Given the description of an element on the screen output the (x, y) to click on. 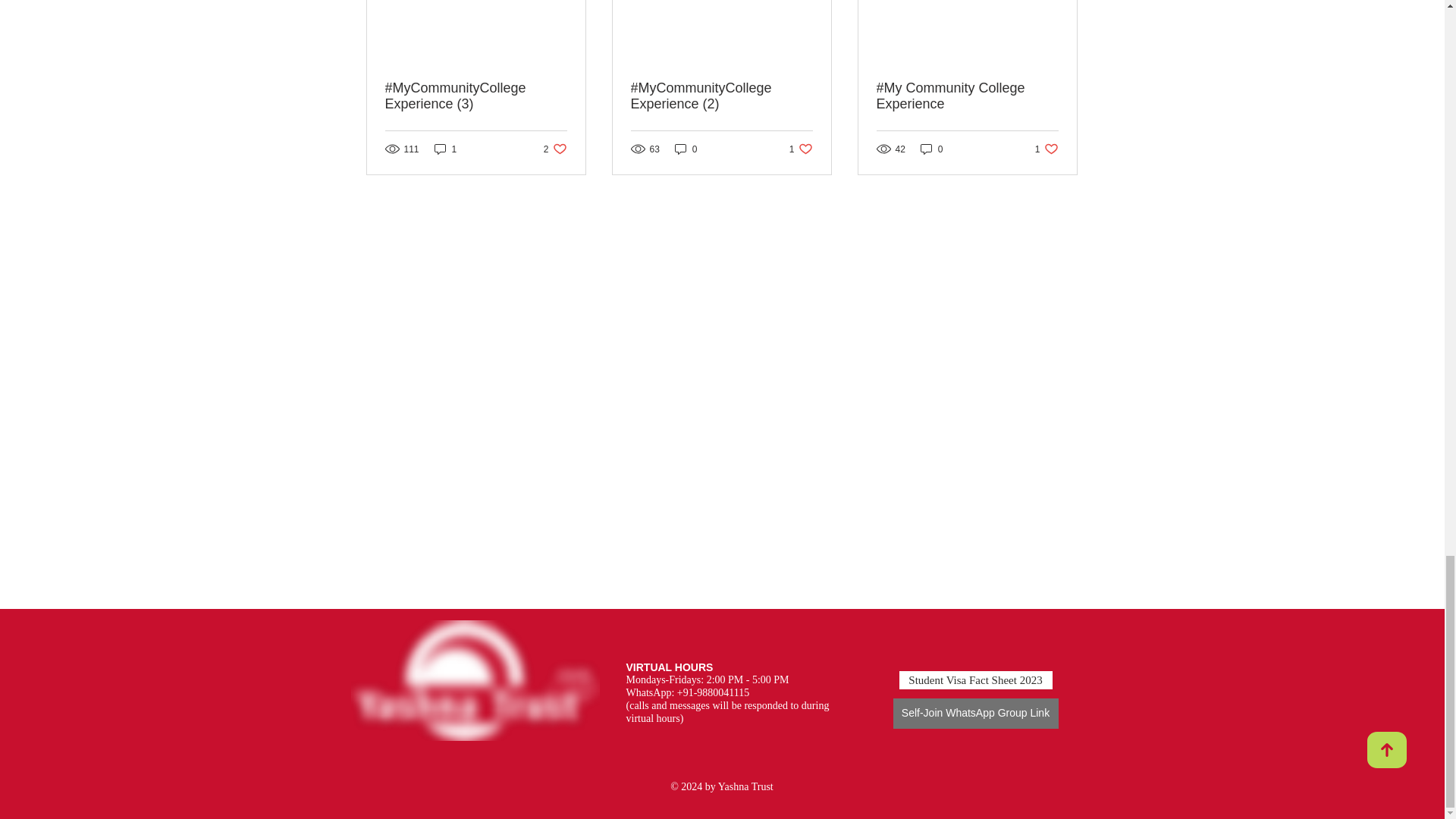
Self-Join WhatsApp Group Link (975, 713)
1 (1046, 148)
Student Visa Fact Sheet 2023 (445, 148)
0 (800, 148)
0 (555, 148)
